Given the description of an element on the screen output the (x, y) to click on. 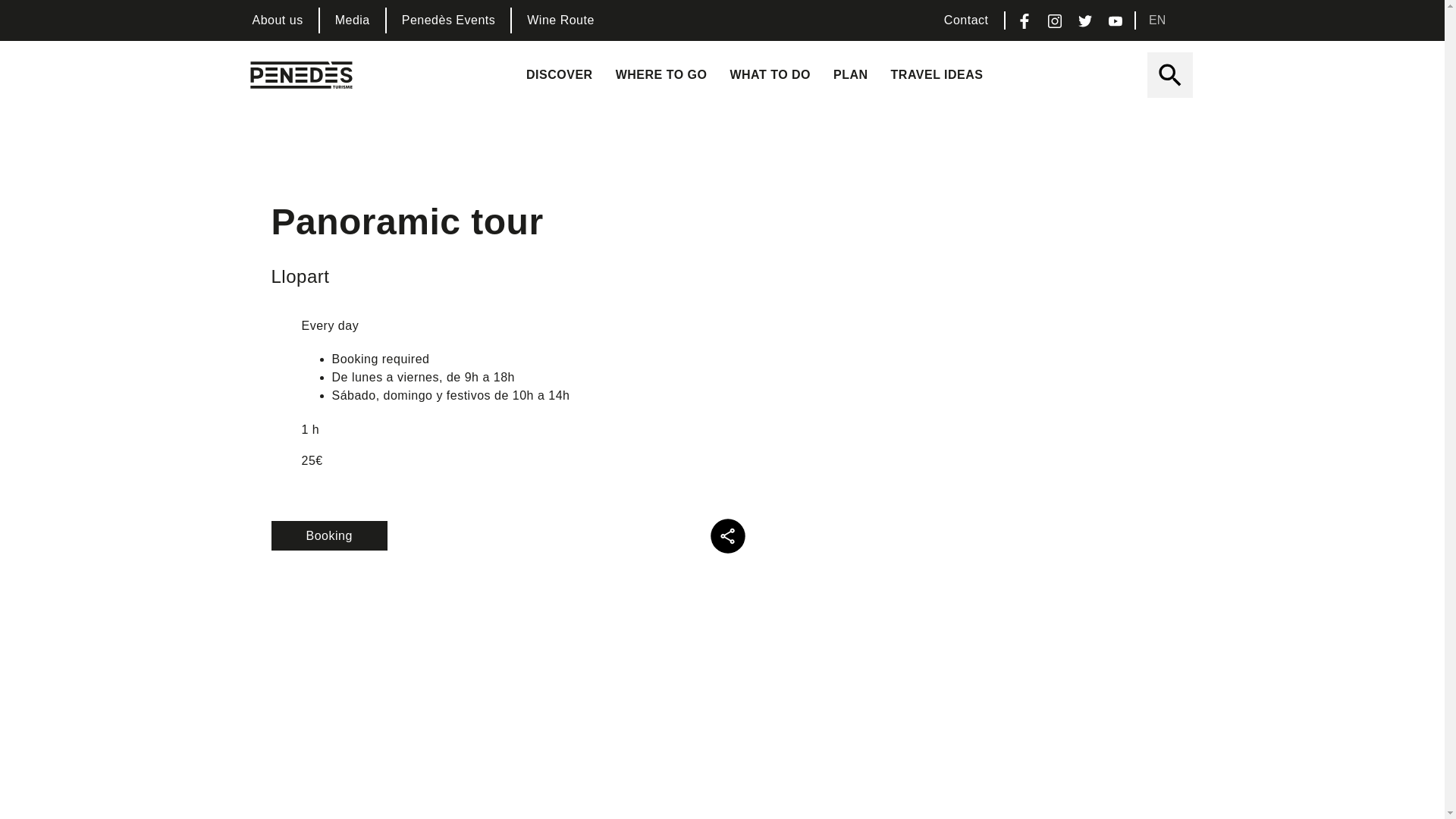
Contact (965, 19)
Travel ideas (936, 74)
WHAT TO DO (769, 74)
Home (301, 75)
Facebook PenedesTurisme (1024, 19)
Wine Route (561, 20)
DISCOVER (559, 74)
Discover (559, 74)
Contact (965, 19)
 Search (1169, 73)
